Given the description of an element on the screen output the (x, y) to click on. 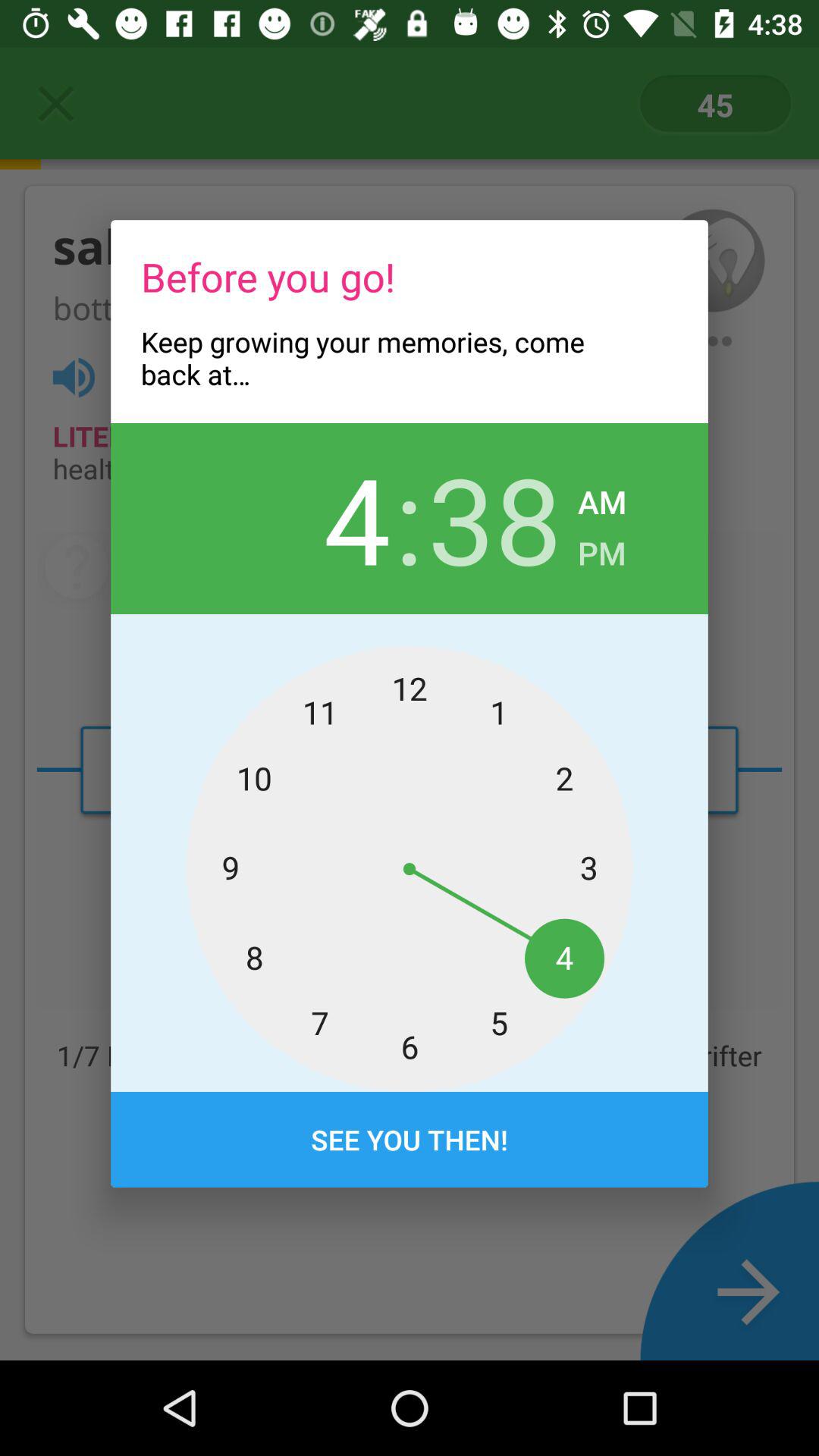
press item next to : item (494, 518)
